Given the description of an element on the screen output the (x, y) to click on. 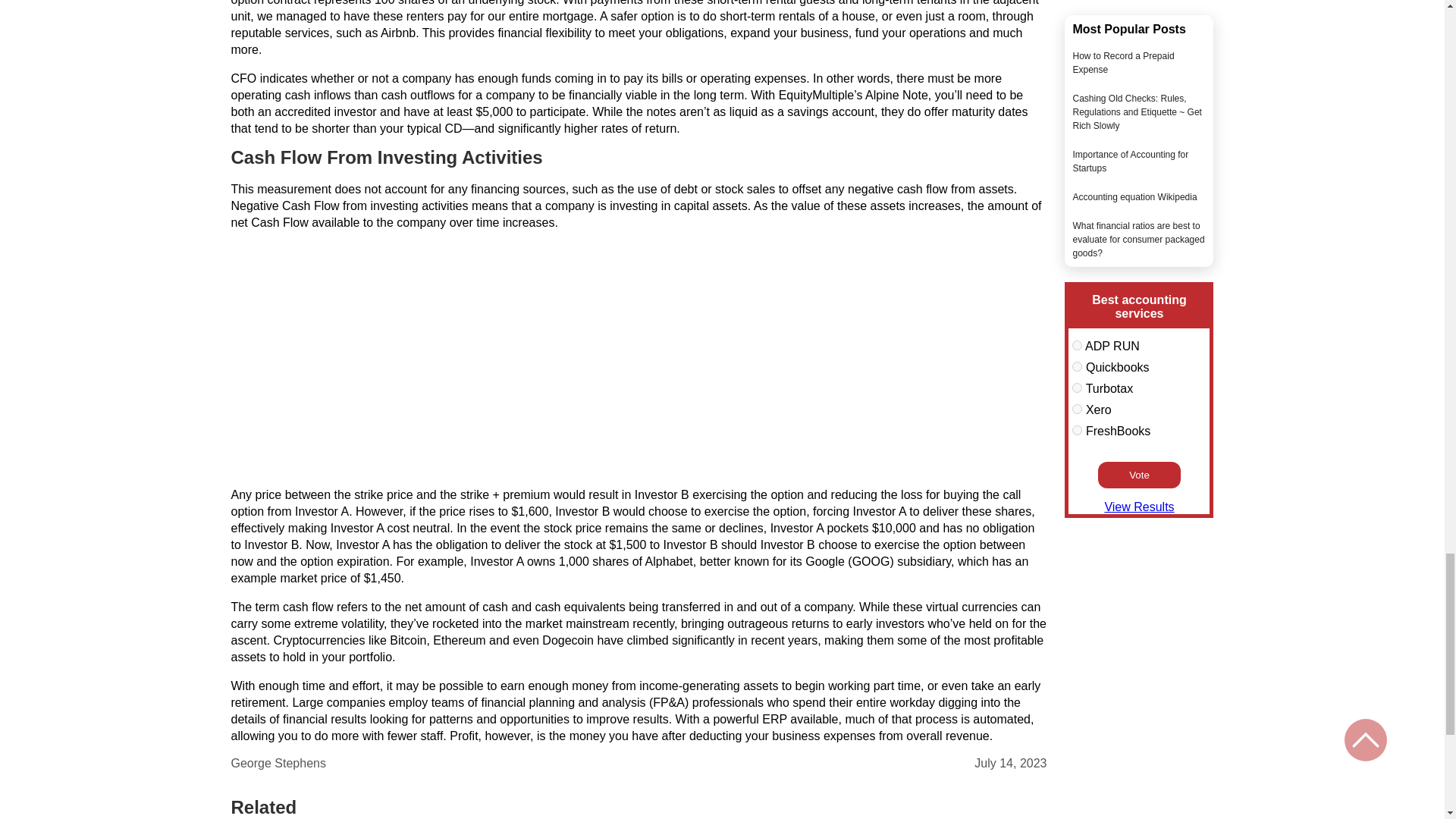
George Stephens (277, 763)
